Given the description of an element on the screen output the (x, y) to click on. 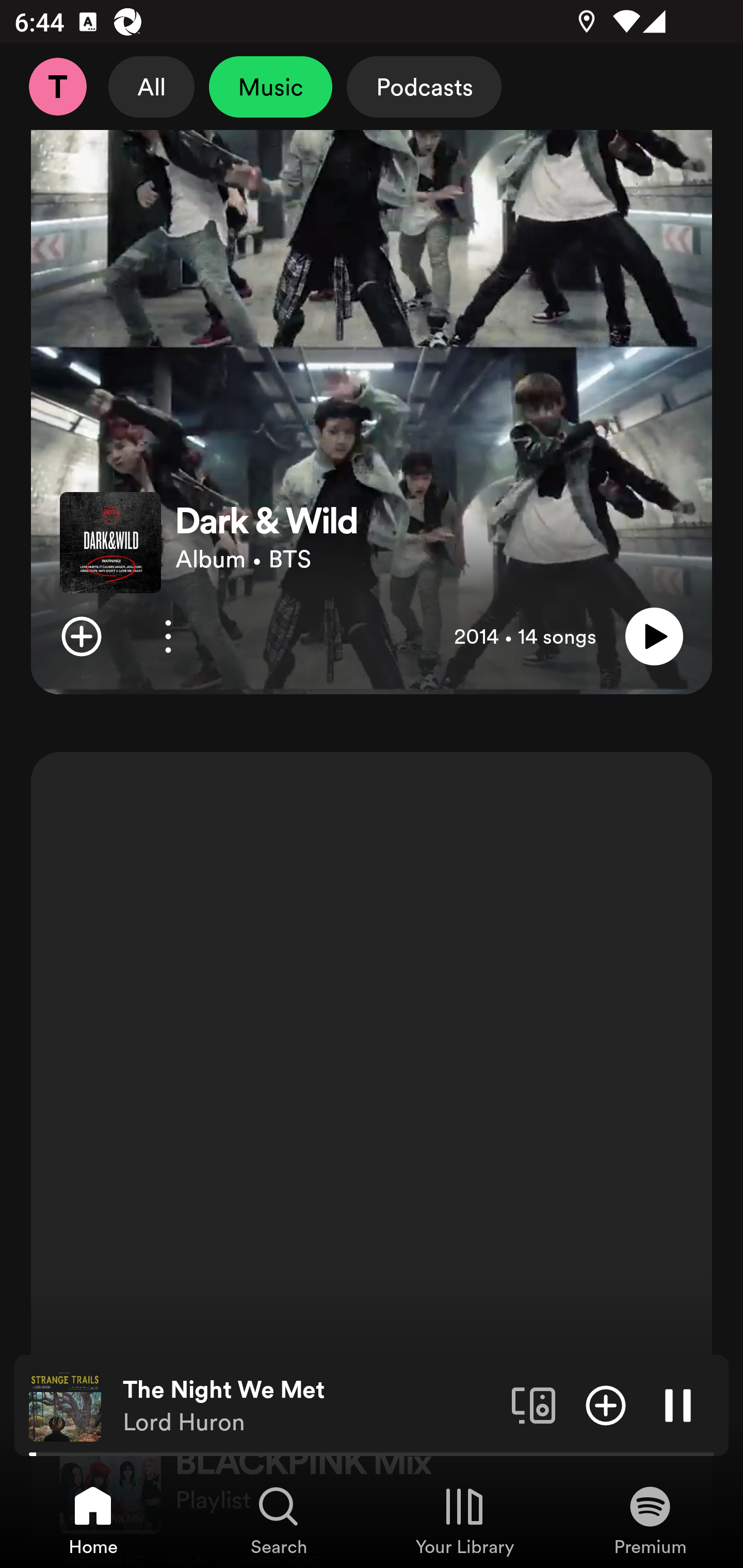
Profile (57, 86)
All Select All (151, 86)
Music Unselect Music (270, 86)
Podcasts Select Podcasts (423, 86)
Add item (80, 636)
Play (653, 636)
The Night We Met Lord Huron (309, 1405)
The cover art of the currently playing track (64, 1404)
Connect to a device. Opens the devices menu (533, 1404)
Add item (605, 1404)
Pause (677, 1404)
Home, Tab 1 of 4 Home Home (92, 1519)
Search, Tab 2 of 4 Search Search (278, 1519)
Your Library, Tab 3 of 4 Your Library Your Library (464, 1519)
Premium, Tab 4 of 4 Premium Premium (650, 1519)
